Given the description of an element on the screen output the (x, y) to click on. 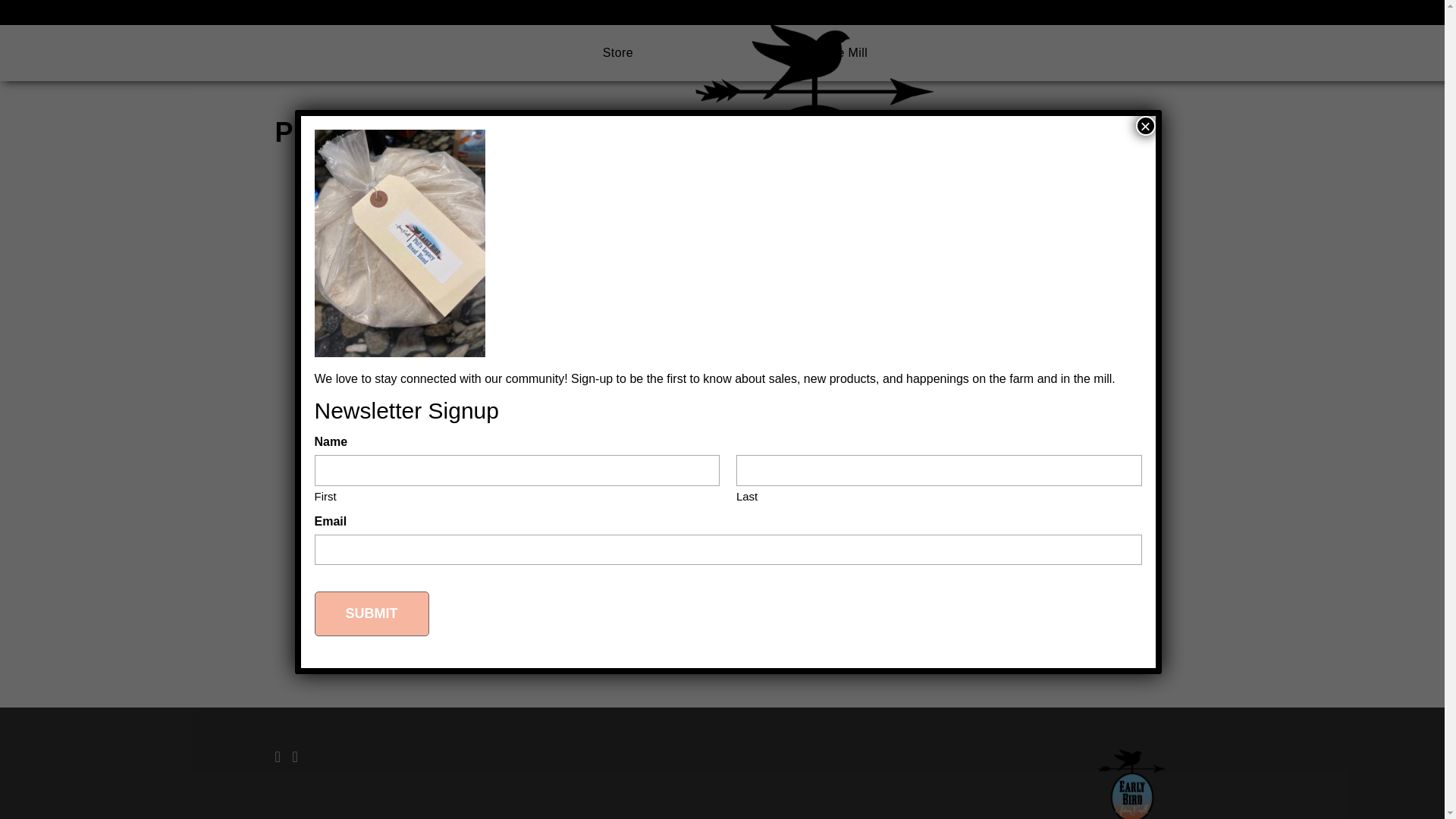
The Mill (844, 52)
Submit (371, 613)
Store (618, 52)
Recipes (872, 12)
FAQS (923, 12)
Submit (371, 613)
Product Locations (1071, 12)
Login (1160, 12)
Contact Us (982, 12)
